Given the description of an element on the screen output the (x, y) to click on. 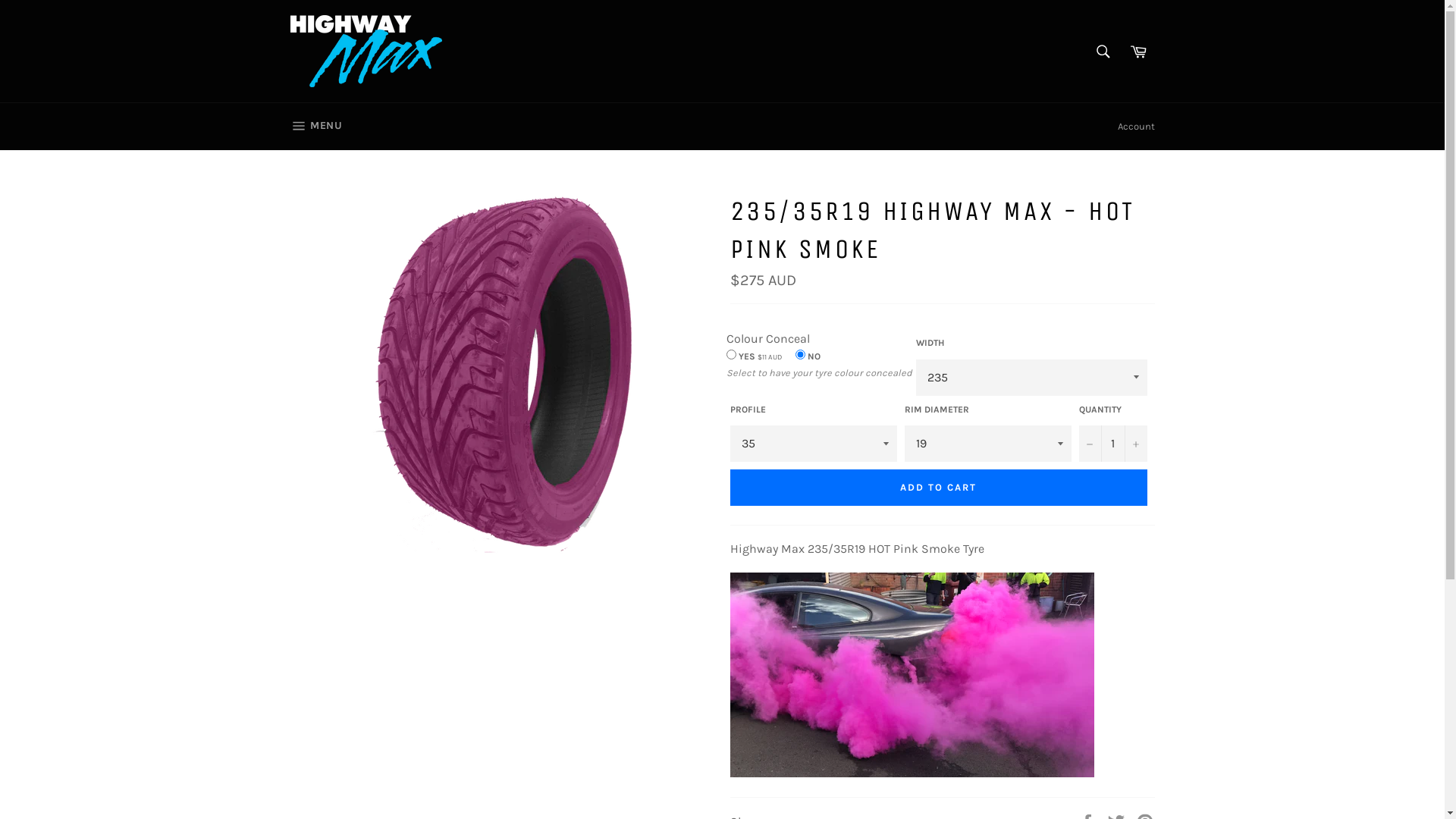
Search Element type: text (1103, 50)
Account Element type: text (1136, 126)
MENU
SITE NAVIGATION Element type: text (315, 126)
ADD TO CART Element type: text (937, 487)
Cart Element type: text (1138, 50)
+ Element type: text (1134, 443)
